Given the description of an element on the screen output the (x, y) to click on. 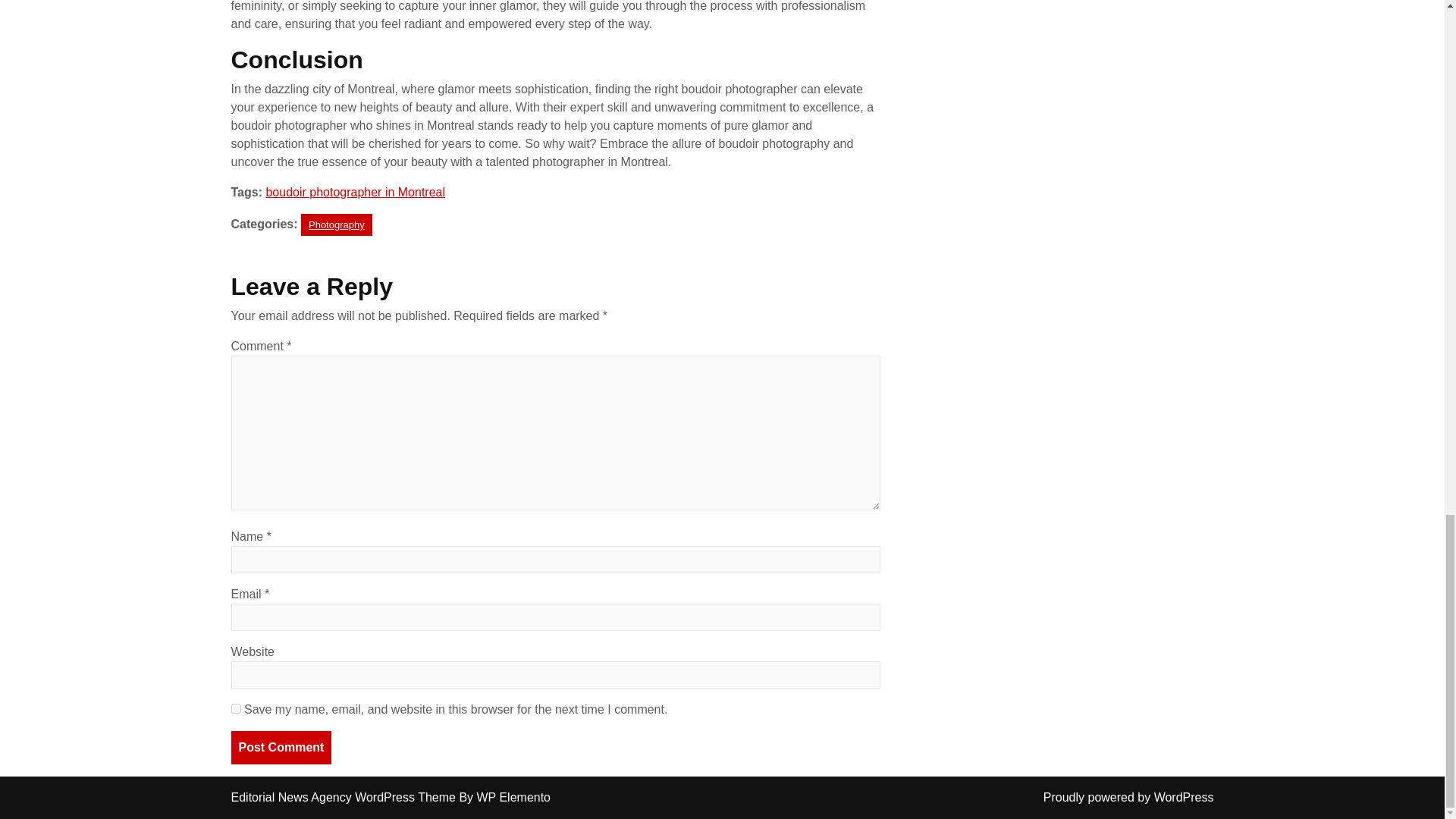
boudoir photographer in Montreal (354, 192)
Photography (336, 224)
Editorial News Agency WordPress Theme (344, 797)
Post Comment (280, 747)
yes (235, 708)
Post Comment (280, 747)
Proudly powered by WordPress (1128, 797)
